Given the description of an element on the screen output the (x, y) to click on. 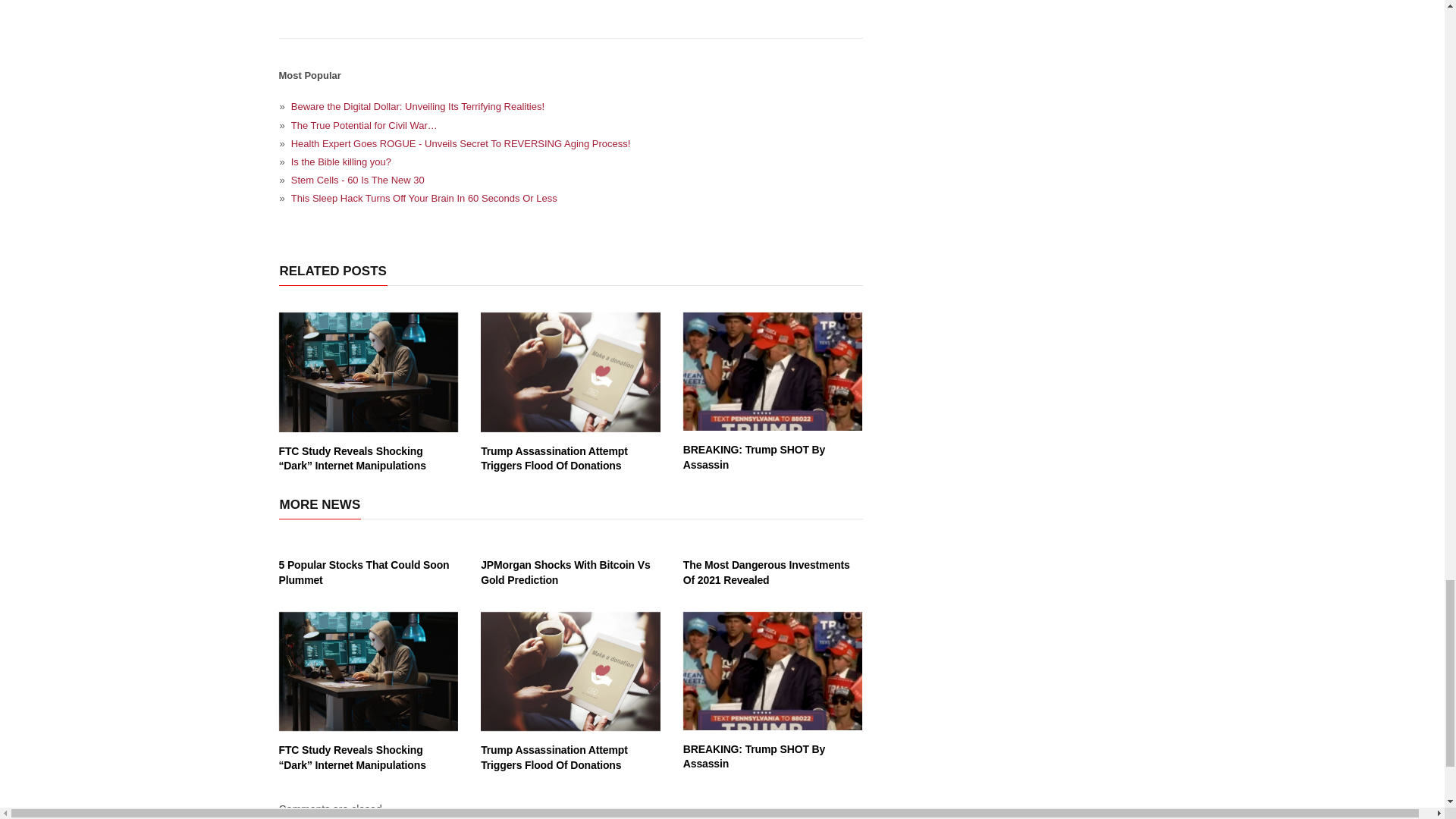
Is the Bible killing you? (571, 160)
Trump Assassination Attempt Triggers Flood Of Donations (570, 372)
